Given the description of an element on the screen output the (x, y) to click on. 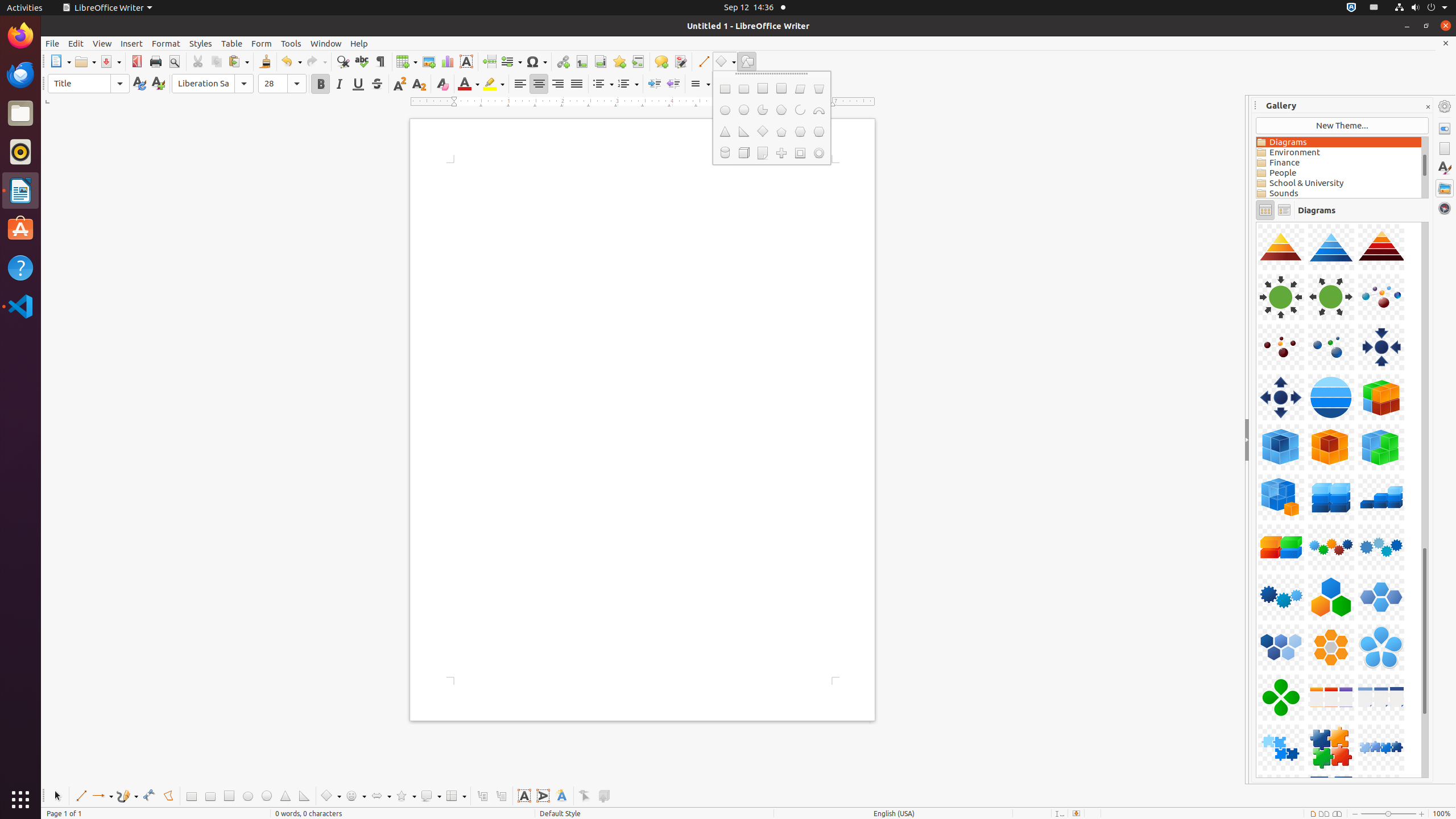
Help Element type: menu (358, 43)
Styles Element type: radio-button (1444, 168)
Circle Element type: toggle-button (743, 110)
Component-PuzzlePiece02-Blue Element type: list-item (1256, 222)
Close Sidebar Deck Element type: push-button (1427, 106)
